Given the description of an element on the screen output the (x, y) to click on. 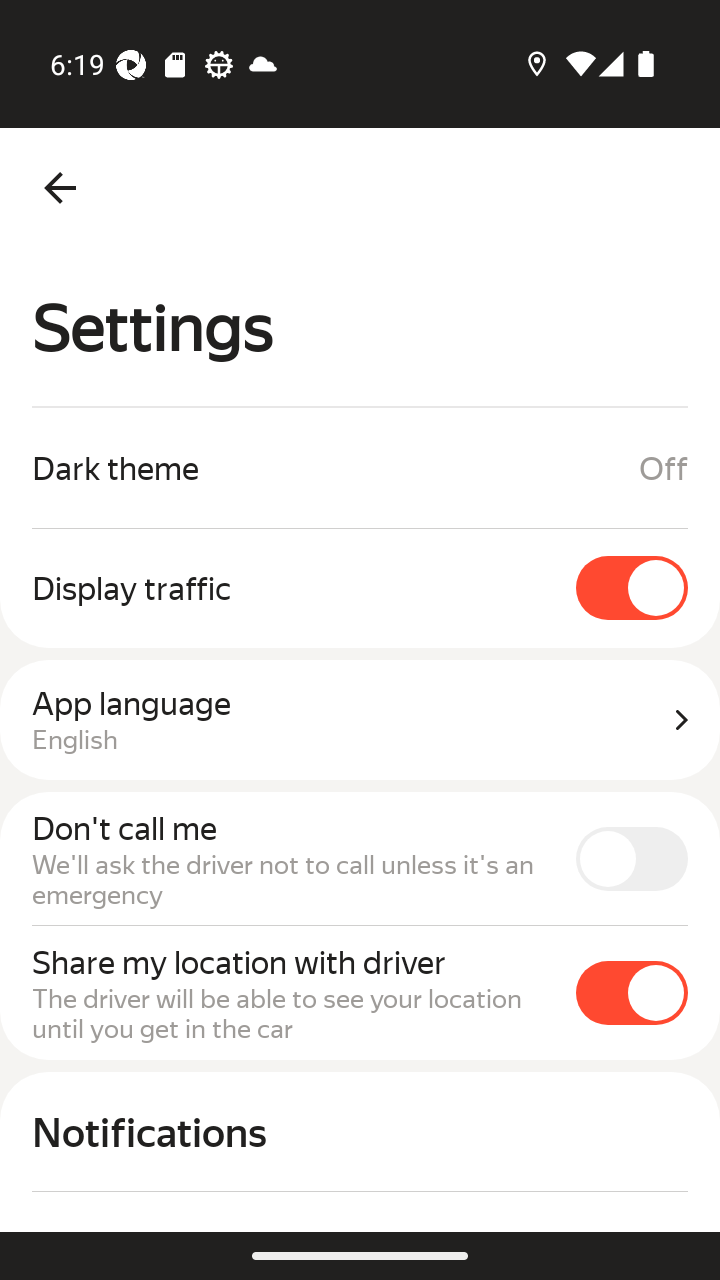
Back (60, 188)
Dark theme Dark theme Off Off (360, 467)
Display traffic (360, 587)
App language, English App language English (360, 719)
